Given the description of an element on the screen output the (x, y) to click on. 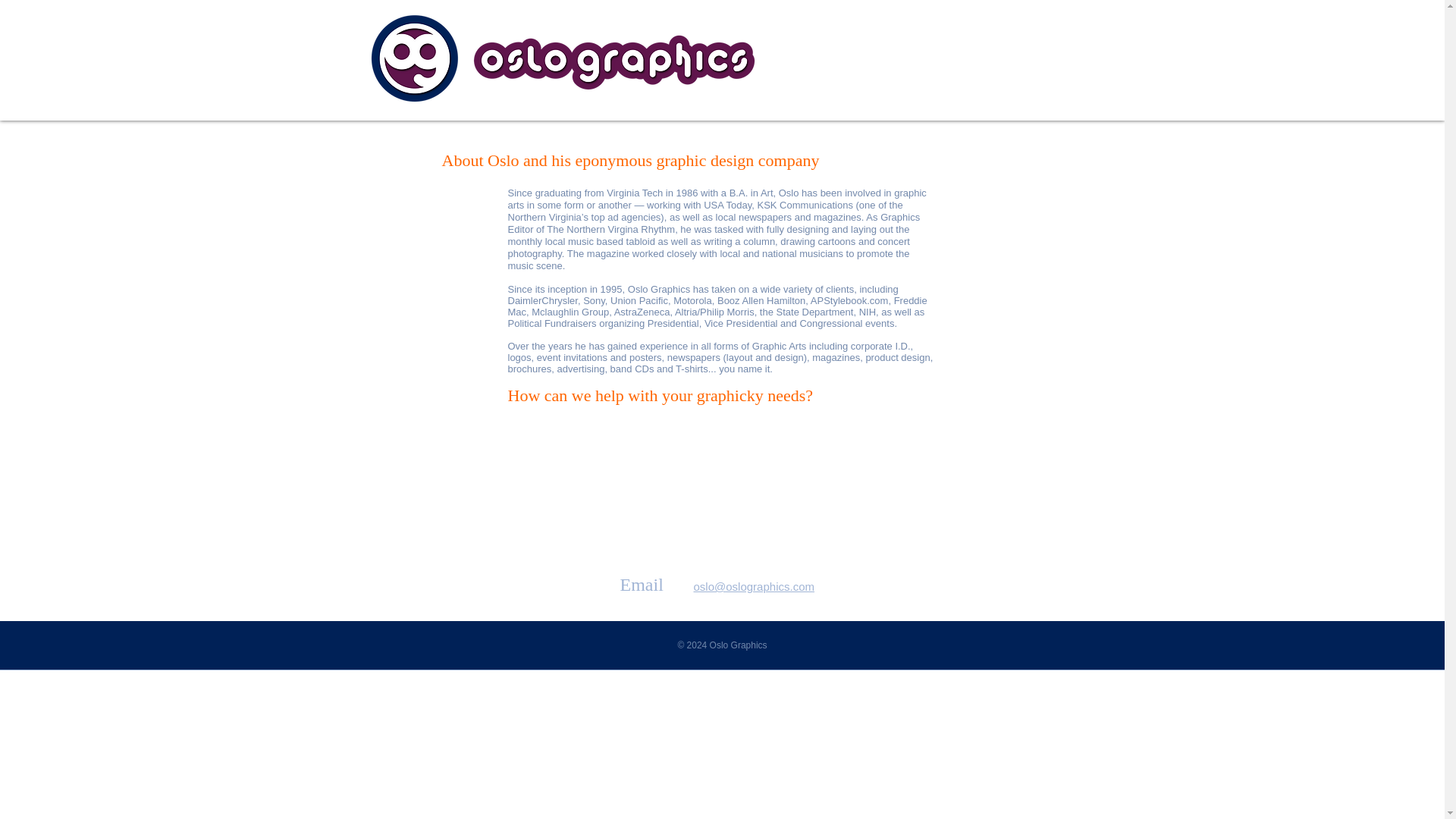
Clicking here will take you home. (561, 58)
